Given the description of an element on the screen output the (x, y) to click on. 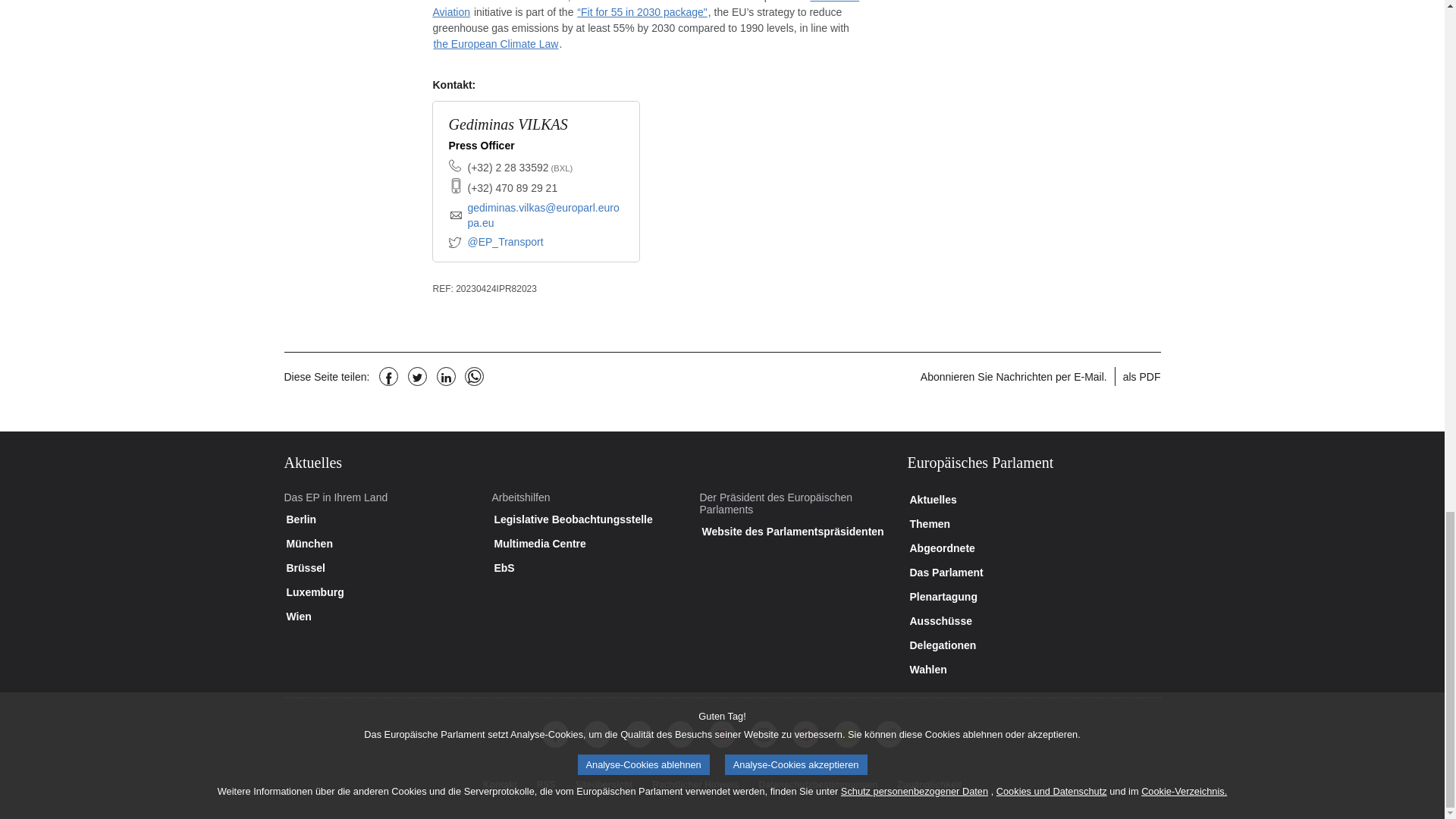
Diese Seite auf Facebook teilen (387, 375)
Diese Seite auf LinkedIn teilen (445, 375)
Diese Seite auf WhatsApp teilen (473, 375)
Referenz (442, 288)
Telefon (519, 168)
Mobiltelefonnummer (512, 188)
Diese Seite auf Twitter teilen (416, 375)
Twitter-Konto aufrufen (495, 242)
